Given the description of an element on the screen output the (x, y) to click on. 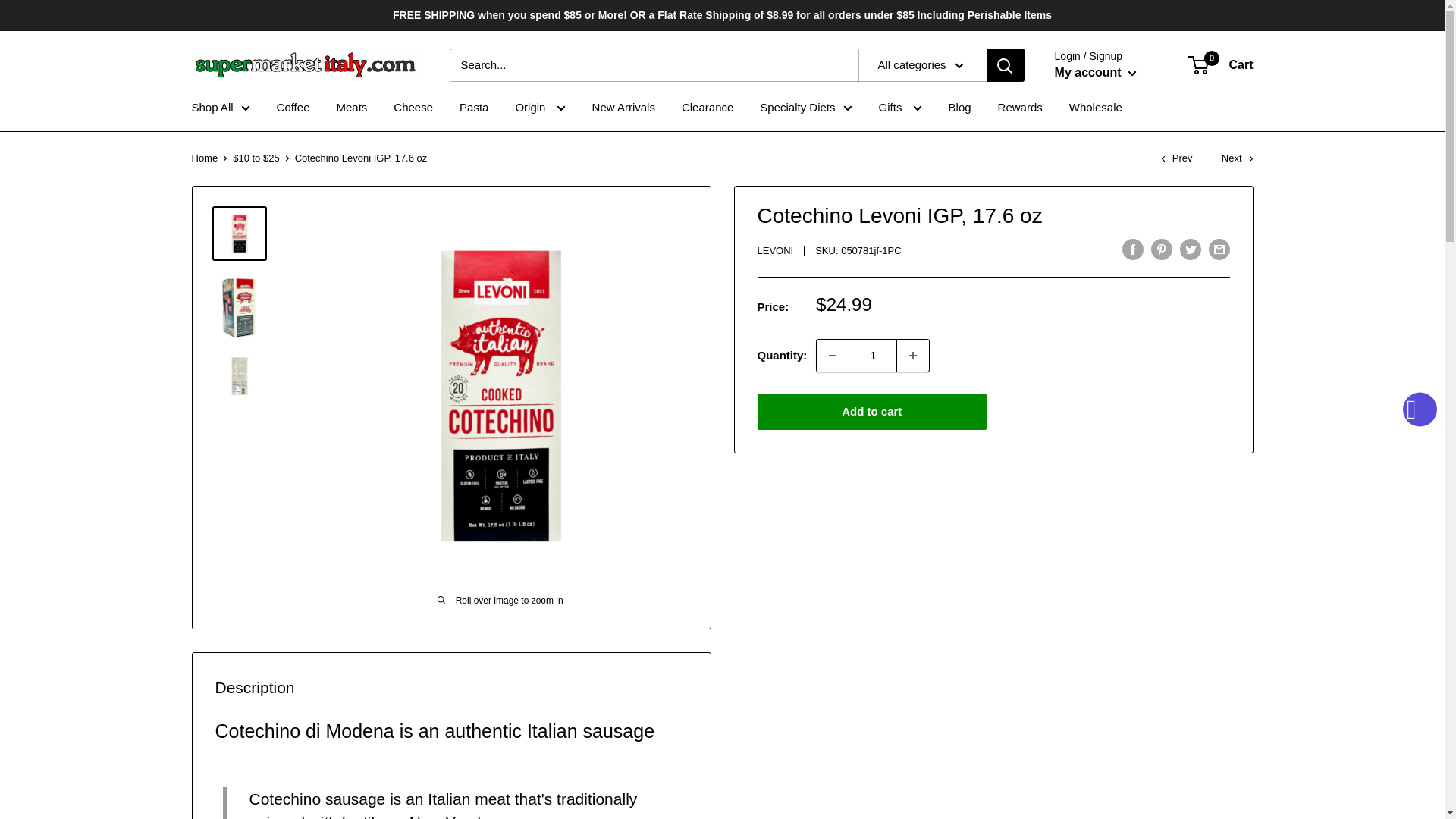
Increase quantity by 1 (912, 355)
1 (872, 355)
Decrease quantity by 1 (832, 355)
